Given the description of an element on the screen output the (x, y) to click on. 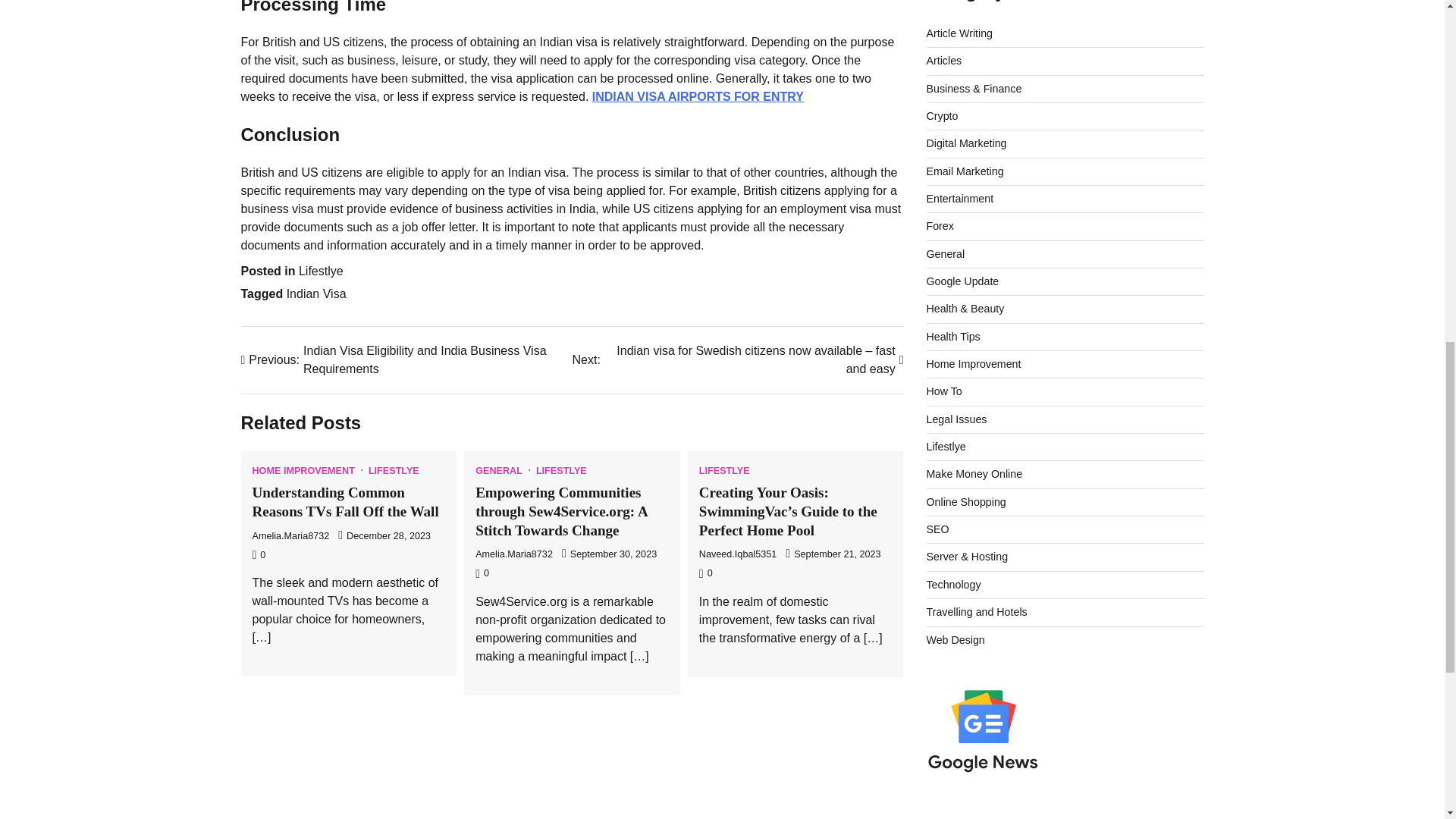
INDIAN VISA AIRPORTS FOR ENTRY (697, 96)
